Given the description of an element on the screen output the (x, y) to click on. 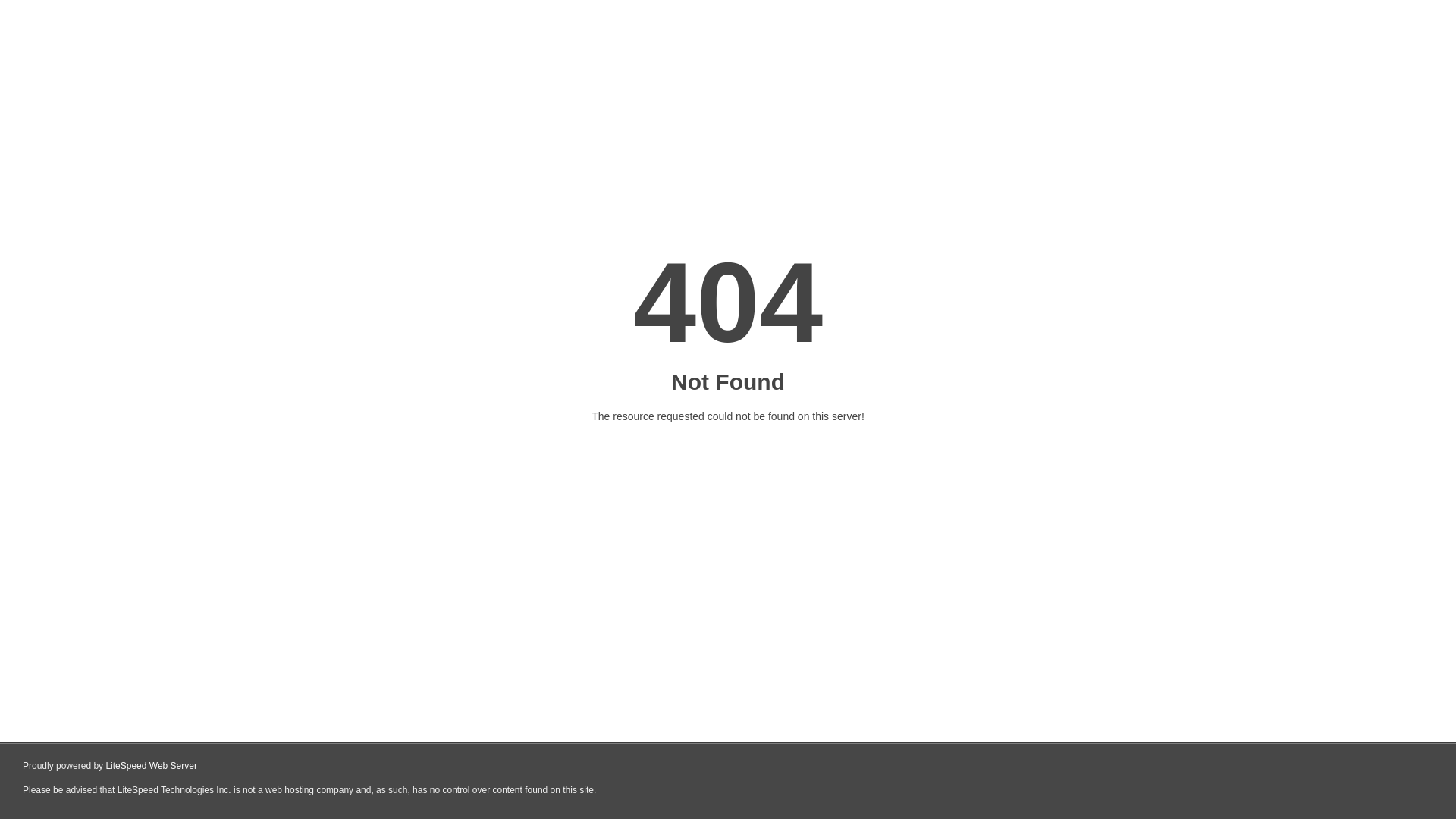
LiteSpeed Web Server Element type: text (151, 765)
